Given the description of an element on the screen output the (x, y) to click on. 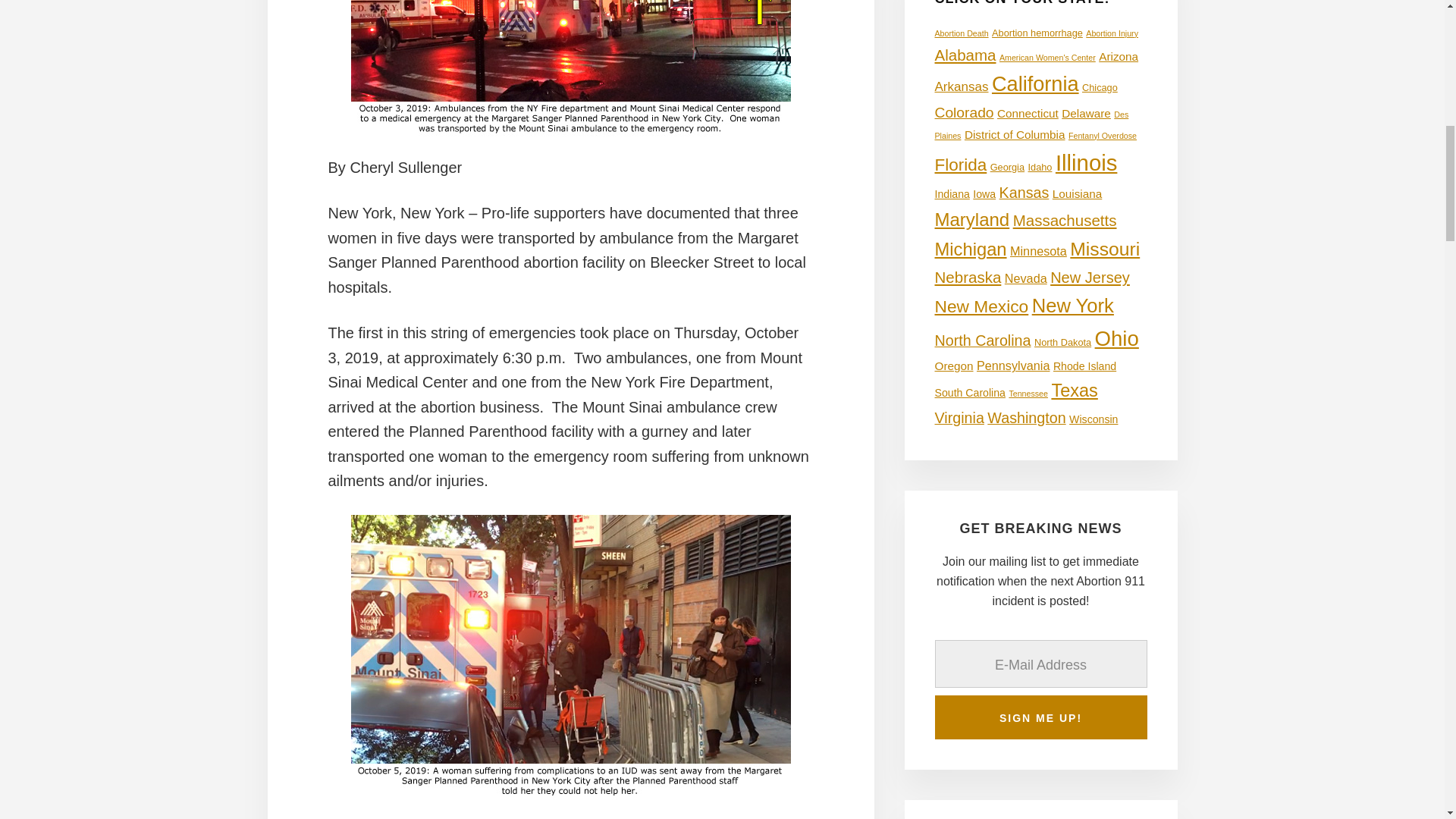
Abortion Injury (1112, 32)
Alabama (964, 54)
Sign Me Up! (1040, 717)
Arizona (1118, 56)
American Women's Center (1047, 57)
Abortion Death (961, 32)
Abortion hemorrhage (1037, 32)
